Given the description of an element on the screen output the (x, y) to click on. 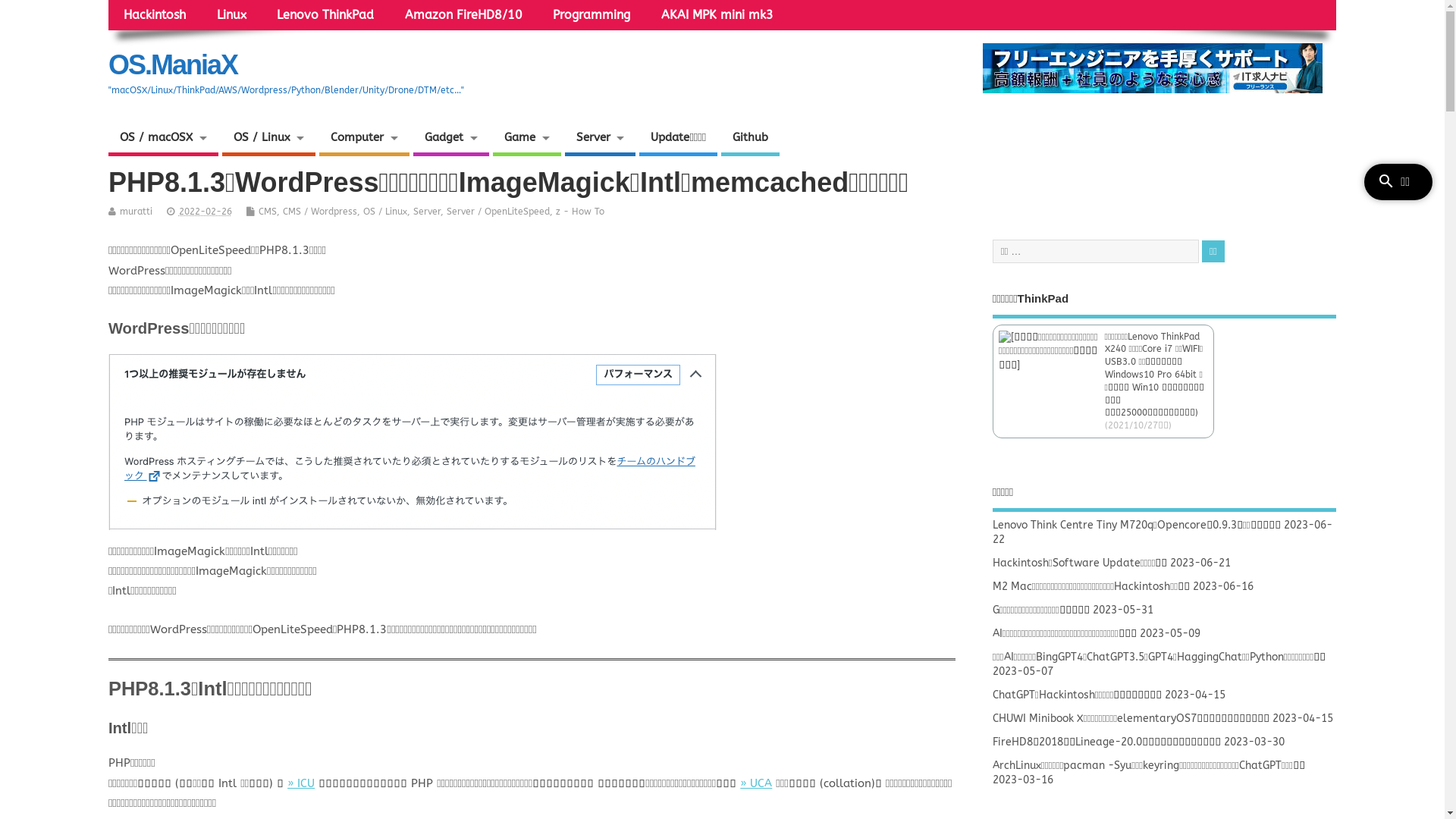
OS.ManiaX Element type: text (172, 64)
Hackintosh Element type: text (154, 15)
OS / Linux Element type: text (269, 139)
Github Element type: text (750, 139)
Server Element type: text (600, 139)
Computer Element type: text (364, 139)
Server Element type: text (426, 211)
Gadget Element type: text (451, 139)
CMS / Wordpress Element type: text (319, 211)
Amazon FireHD8/10 Element type: text (463, 15)
OS / macOSX Element type: text (163, 139)
Lenovo ThinkPad Element type: text (325, 15)
muratti Element type: text (135, 211)
CMS Element type: text (267, 211)
Game Element type: text (526, 139)
Server / OpenLiteSpeed Element type: text (497, 211)
Linux Element type: text (230, 15)
AKAI MPK mini mk3 Element type: text (716, 15)
Programming Element type: text (591, 15)
z - How To Element type: text (579, 211)
Advertisement Element type: hover (1164, 201)
OS / Linux Element type: text (385, 211)
